Given the description of an element on the screen output the (x, y) to click on. 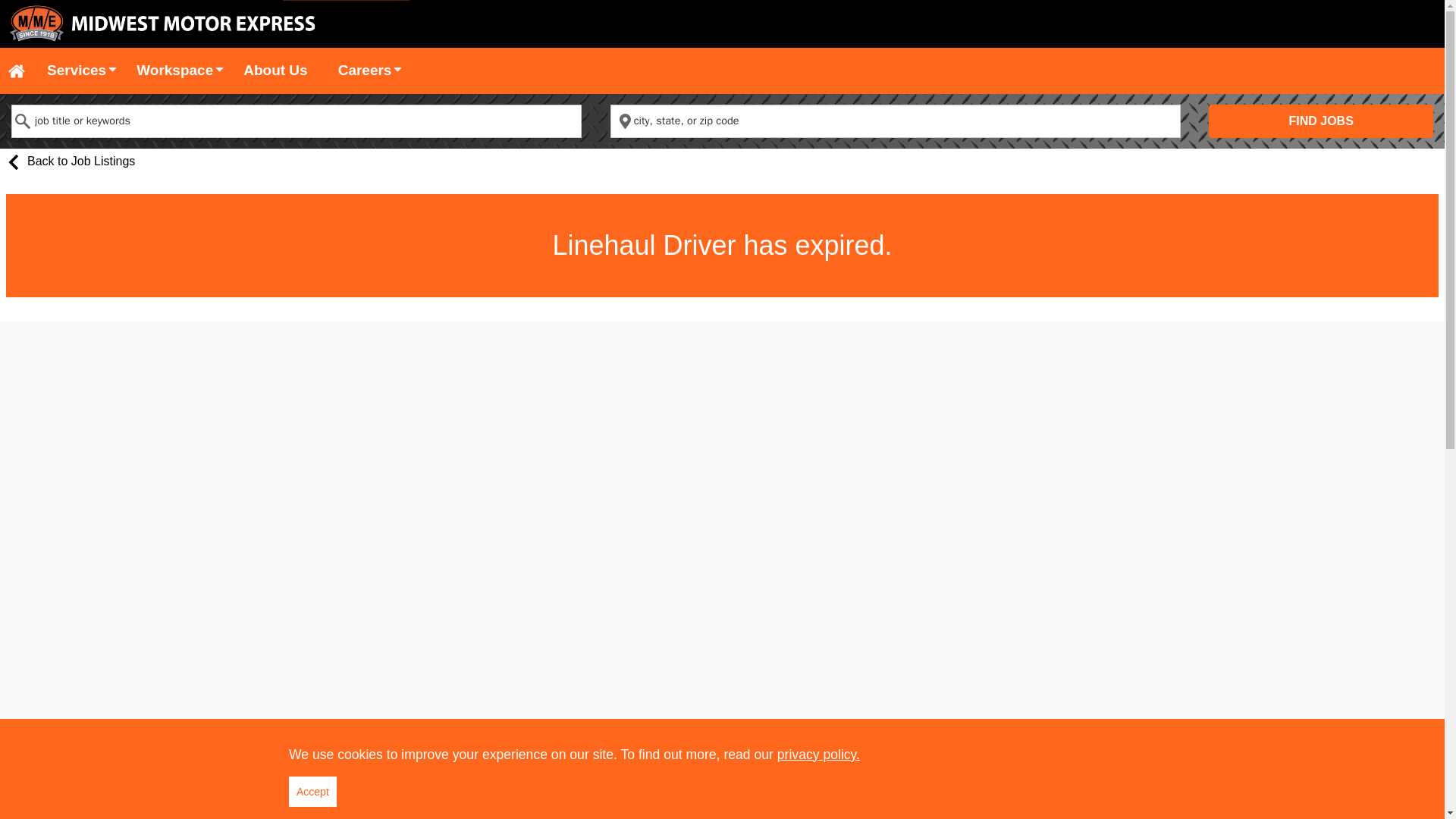
Accept (312, 791)
FIND JOBS (1320, 121)
Services (76, 71)
Careers (365, 71)
Workspace (174, 71)
About Us (274, 71)
privacy policy. (818, 754)
Back to Job Listings (67, 163)
